Given the description of an element on the screen output the (x, y) to click on. 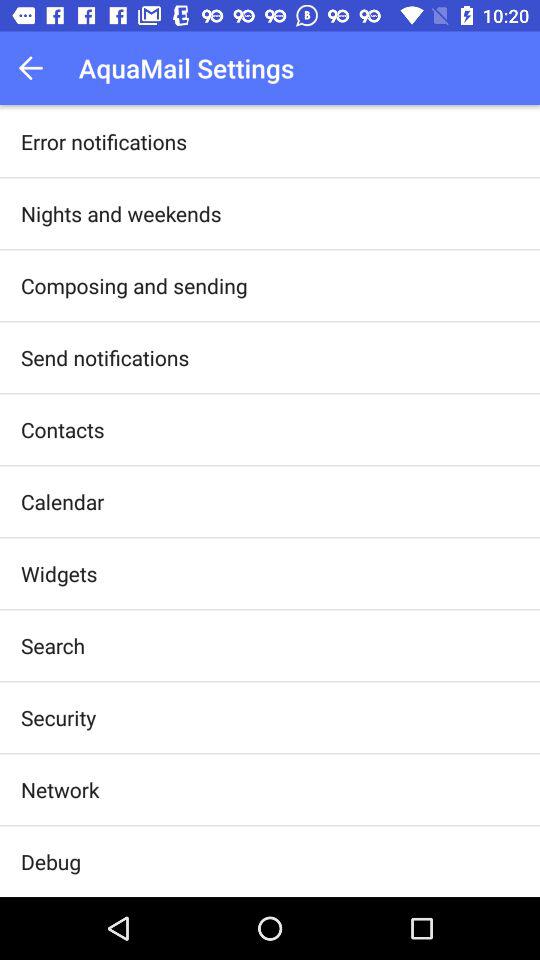
flip to the network item (60, 789)
